Given the description of an element on the screen output the (x, y) to click on. 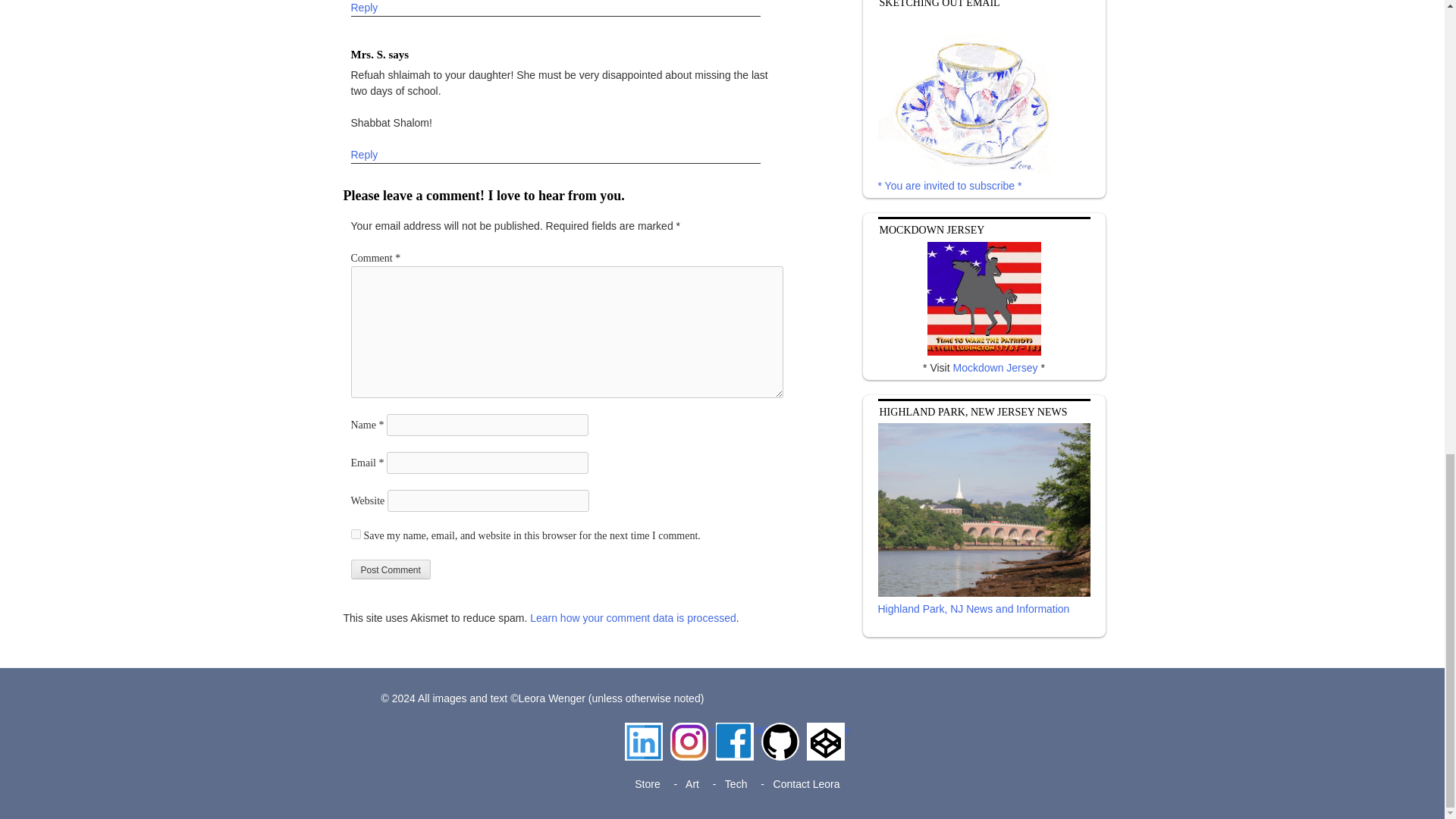
Post Comment (389, 569)
Reply (363, 154)
Reply (363, 7)
Learn how your comment data is processed (632, 617)
Post Comment (389, 569)
yes (354, 533)
